Given the description of an element on the screen output the (x, y) to click on. 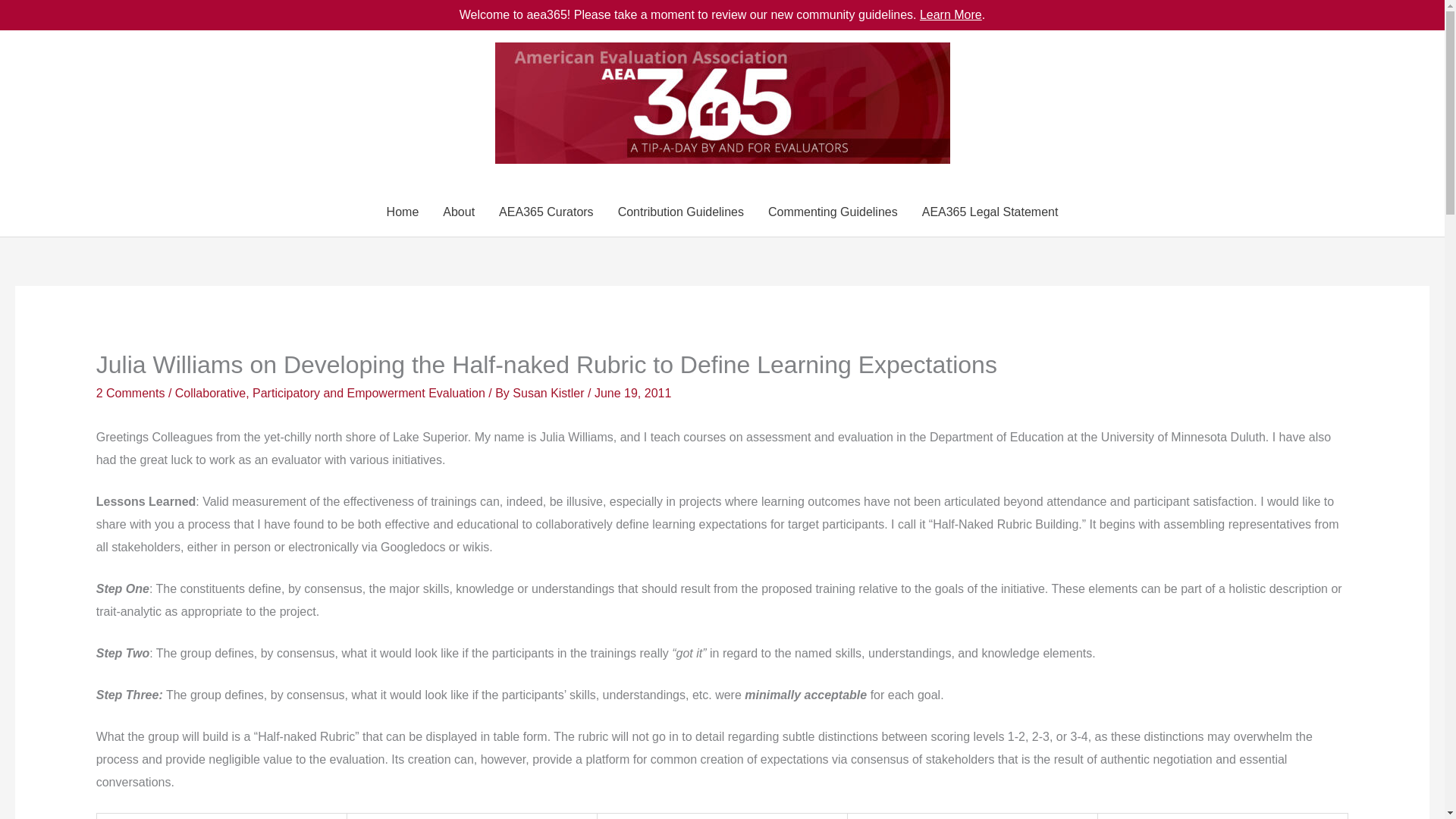
AEA365 Curators (545, 212)
Susan Kistler (550, 392)
Home (402, 212)
About (458, 212)
Contribution Guidelines (680, 212)
Commenting Guidelines (832, 212)
Learn More (950, 14)
2 Comments (130, 392)
Collaborative, Participatory and Empowerment Evaluation (329, 392)
AEA365 Legal Statement (990, 212)
View all posts by Susan Kistler (550, 392)
